Given the description of an element on the screen output the (x, y) to click on. 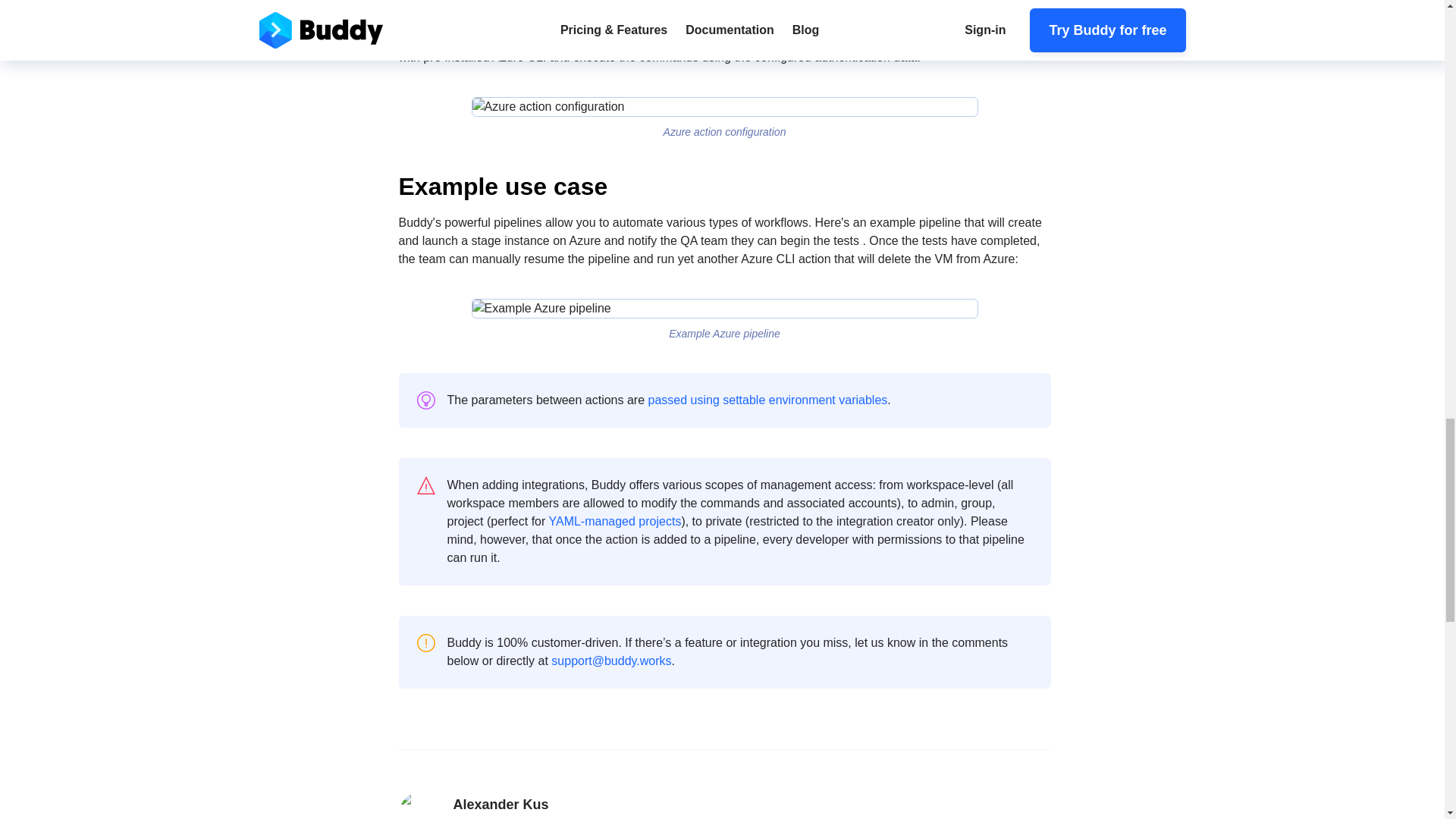
passed using settable environment variables (767, 399)
YAML-managed projects (614, 521)
Example use case (724, 186)
